Given the description of an element on the screen output the (x, y) to click on. 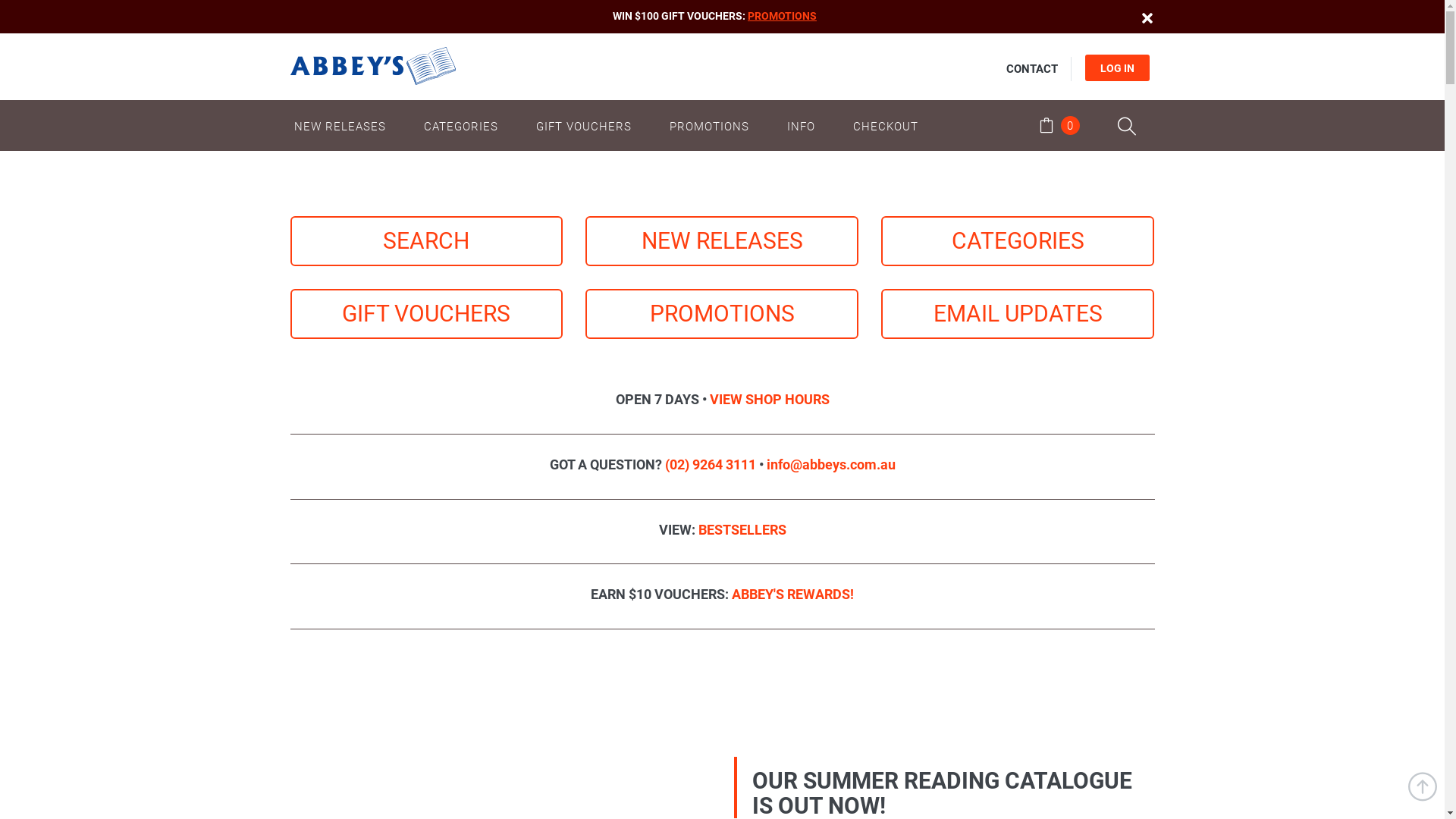
0 Element type: text (1058, 127)
CATEGORIES Element type: text (1017, 241)
info@abbeys.com.au Element type: text (829, 464)
GIFT VOUCHERS Element type: text (583, 125)
CONTACT Element type: text (1031, 68)
(02) 9264 3111 Element type: text (709, 464)
PROMOTIONS Element type: text (721, 313)
GIFT VOUCHERS Element type: text (425, 313)
VIEW SHOP HOURS Element type: text (769, 399)
CATEGORIES Element type: text (460, 125)
EMAIL UPDATES Element type: text (1017, 313)
NEW RELEASES Element type: text (721, 241)
ABBEY'S REWARDS! Element type: text (792, 594)
PROMOTIONS Element type: text (781, 15)
PROMOTIONS Element type: text (709, 125)
INFO Element type: text (800, 125)
SEARCH Element type: text (425, 241)
BESTSELLERS Element type: text (741, 529)
NEW RELEASES Element type: text (346, 125)
CHECKOUT Element type: text (885, 125)
